Given the description of an element on the screen output the (x, y) to click on. 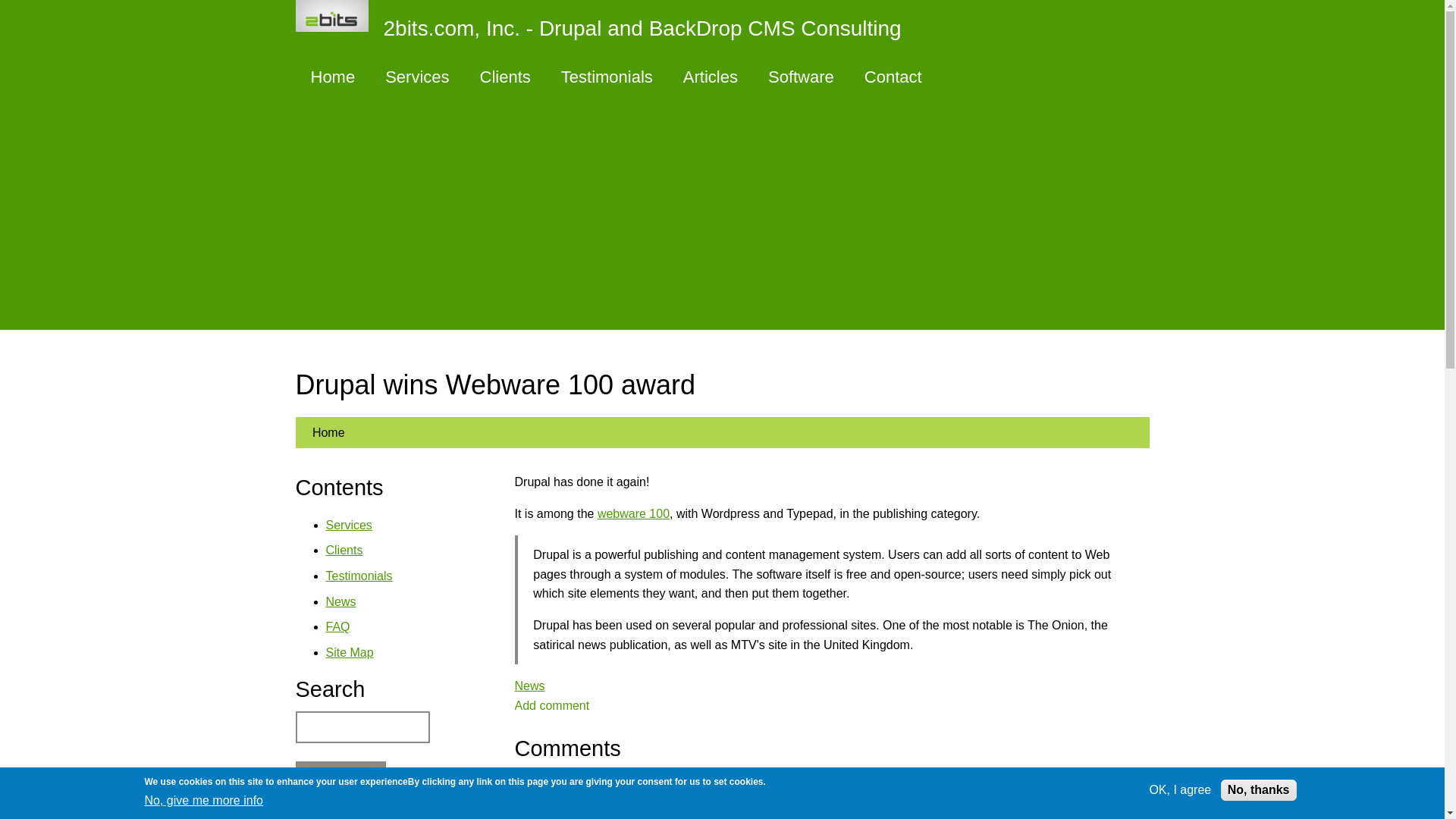
Digg entry (561, 814)
Testimonials (607, 76)
Software (800, 76)
Clients (505, 76)
Home (606, 25)
News (341, 601)
Articles (710, 76)
Home (328, 432)
Testimonials (359, 575)
2bits.com, Inc. - Drupal and BackDrop CMS Consulting (606, 25)
Search (340, 778)
Services (416, 76)
Clients (344, 549)
Share your thoughts and opinions related to this posting. (551, 705)
